Given the description of an element on the screen output the (x, y) to click on. 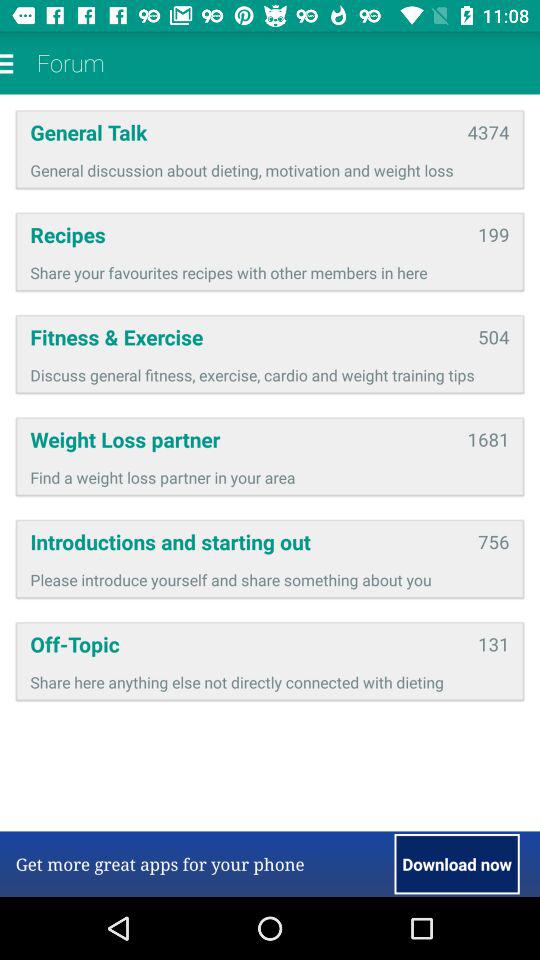
flip until the share your favourites (269, 272)
